Given the description of an element on the screen output the (x, y) to click on. 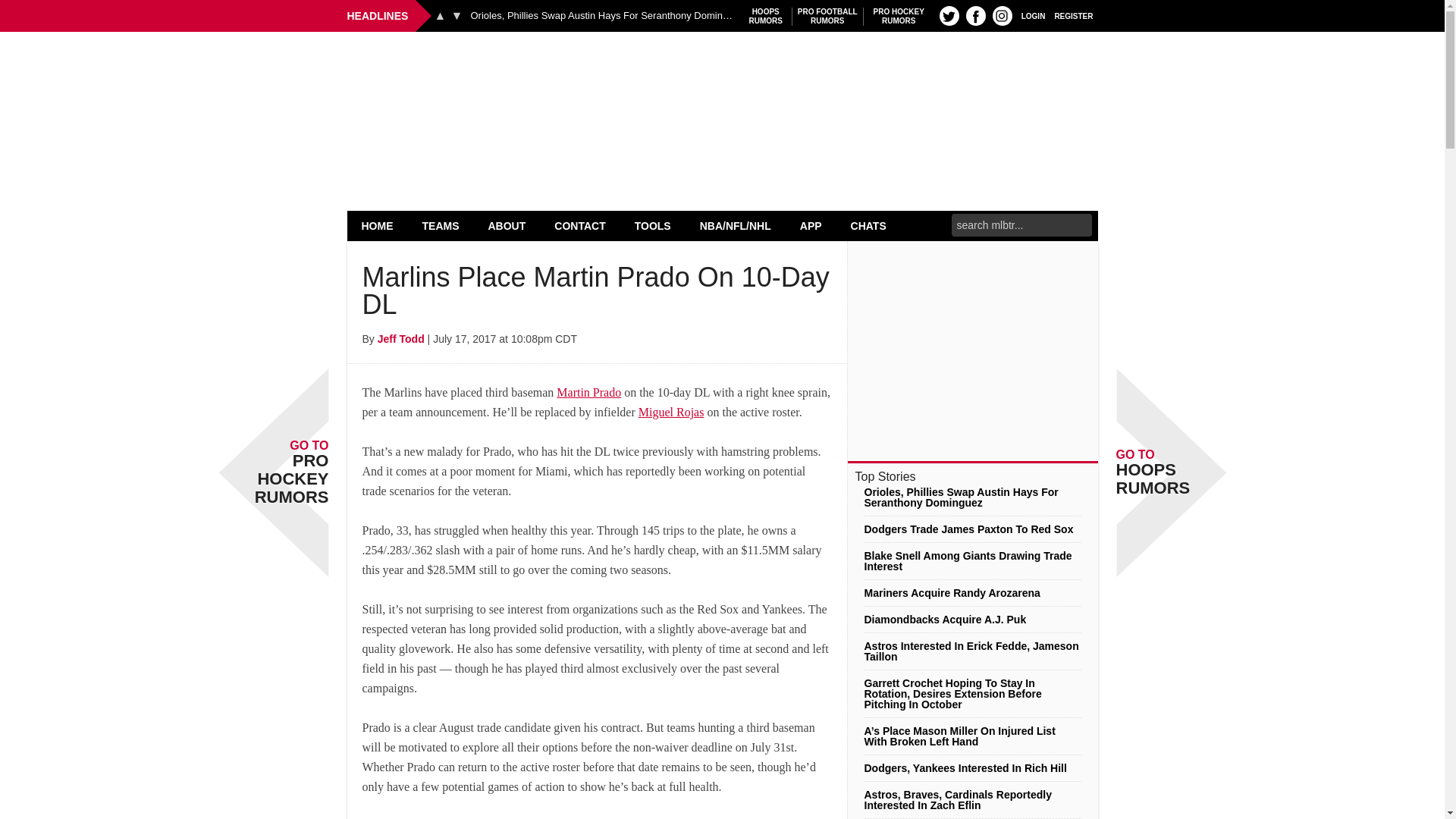
HOME (377, 225)
LOGIN (1032, 15)
TEAMS (827, 16)
Next (440, 225)
Previous (765, 16)
Search (456, 15)
REGISTER (439, 15)
Twitter profile (898, 16)
Instagram profile (1073, 15)
FB profile (722, 69)
Orioles, Phillies Swap Austin Hays For Seranthony Dominguez (949, 15)
